Given the description of an element on the screen output the (x, y) to click on. 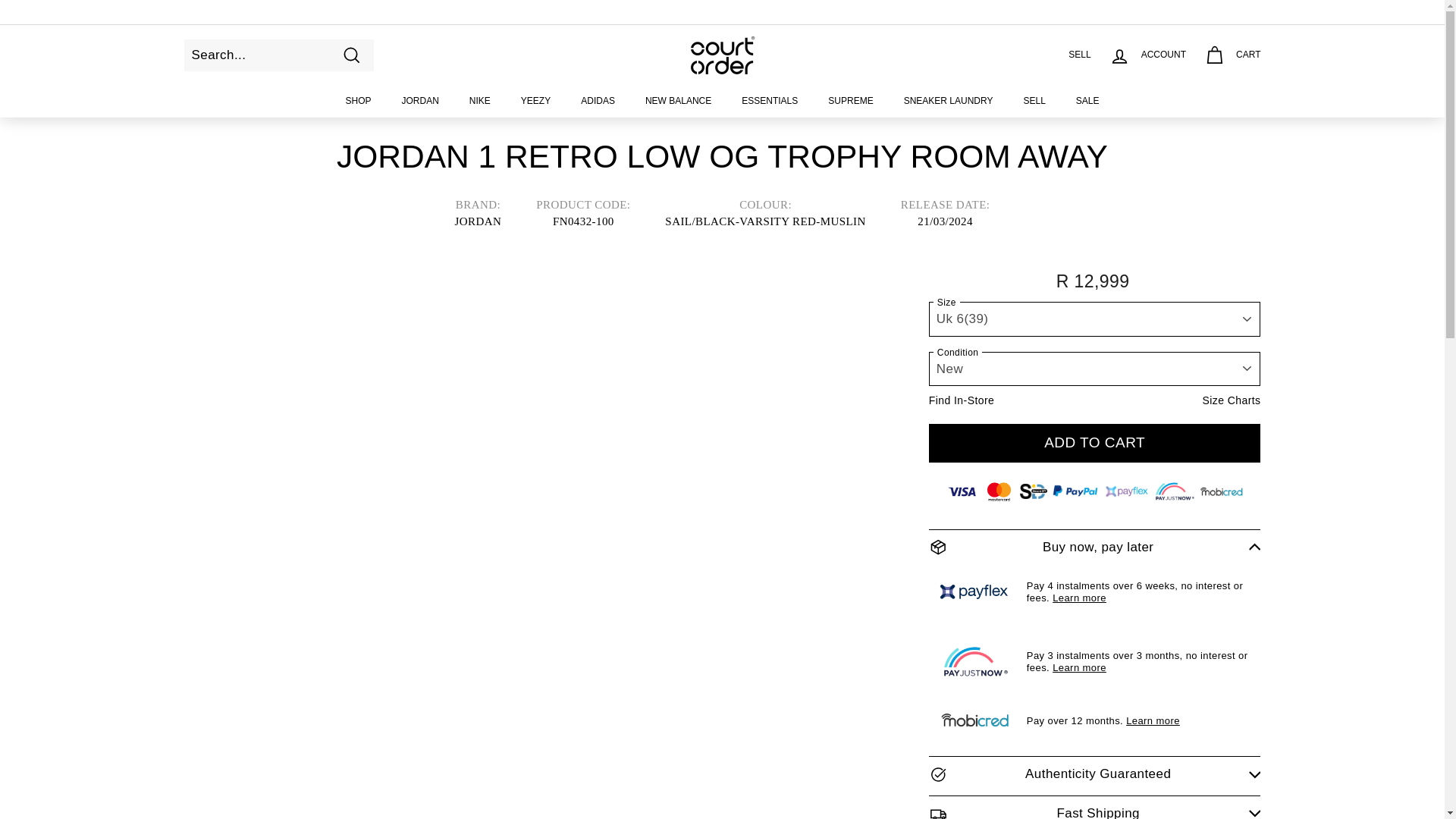
SELL (1073, 55)
SHOP (357, 101)
ACCOUNT (1147, 55)
